Given the description of an element on the screen output the (x, y) to click on. 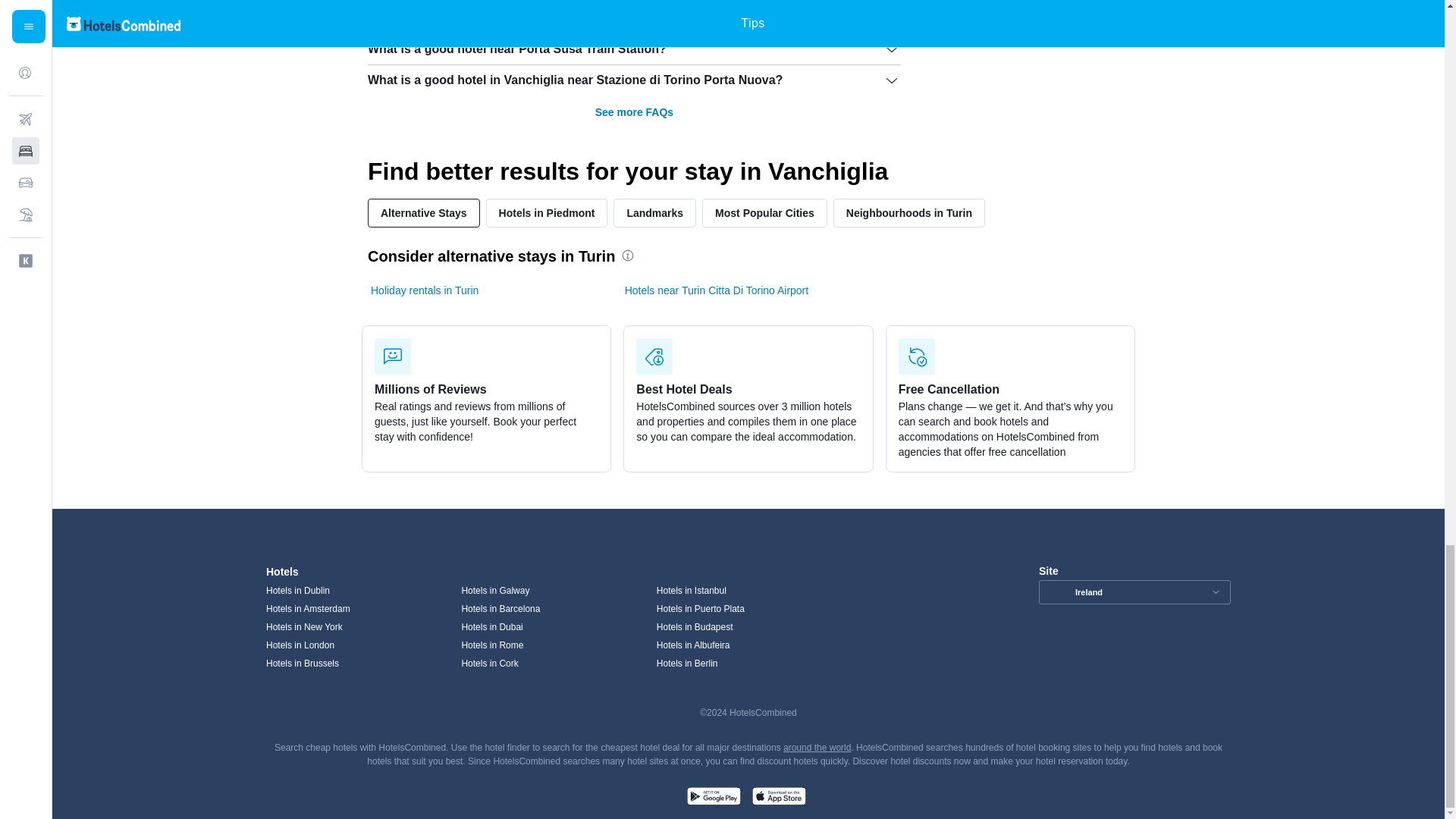
Download on the App Store (778, 797)
Hotels near Turin Citta Di Torino Airport (716, 290)
Most Popular Cities (764, 213)
Hotels in Piedmont (547, 213)
Holiday rentals in Turin (425, 290)
Neighbourhoods in Turin (908, 213)
Alternative Stays (424, 213)
Get it on Google Play (713, 797)
Landmarks (653, 213)
